Given the description of an element on the screen output the (x, y) to click on. 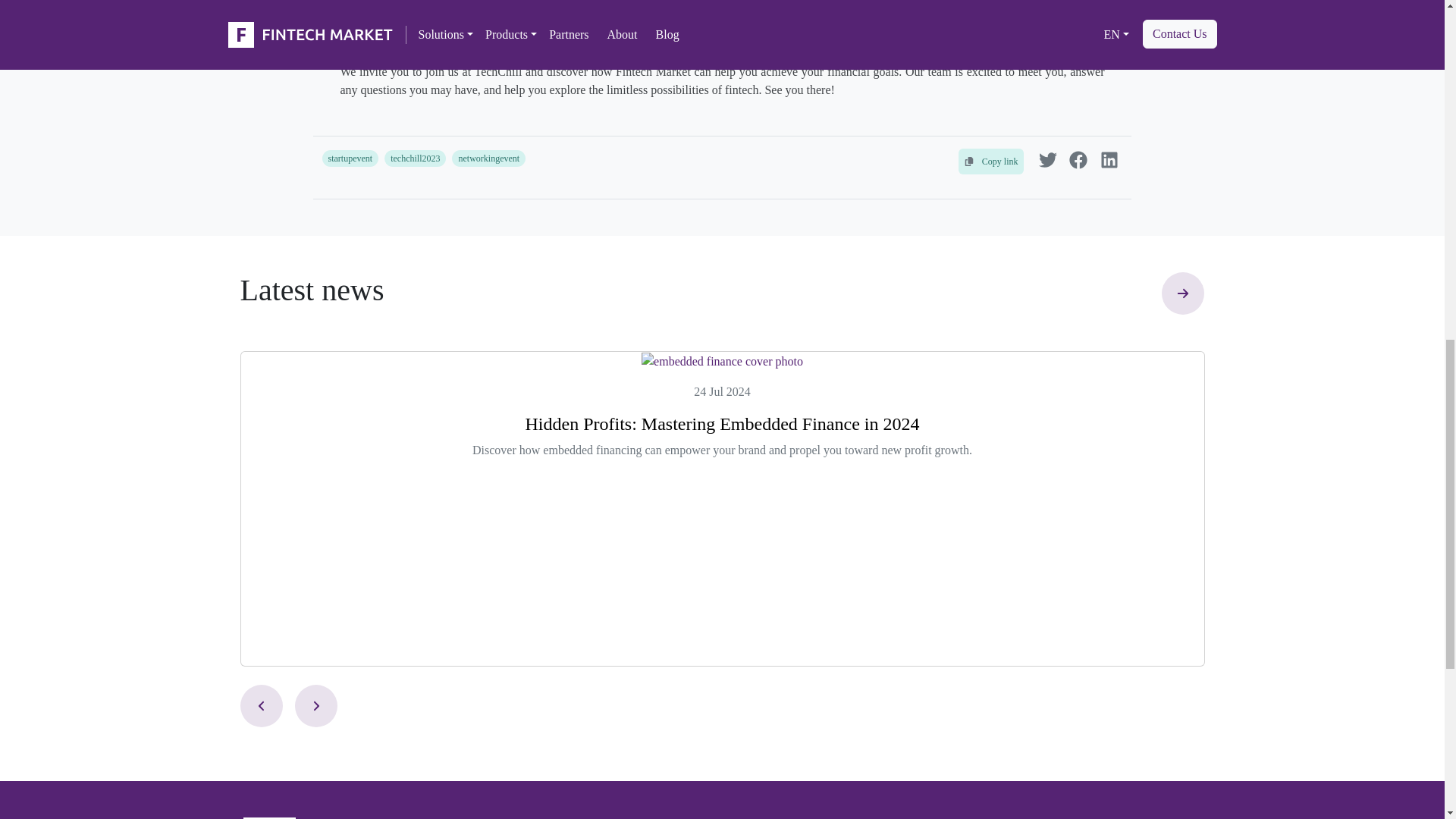
Blog (1182, 309)
